Given the description of an element on the screen output the (x, y) to click on. 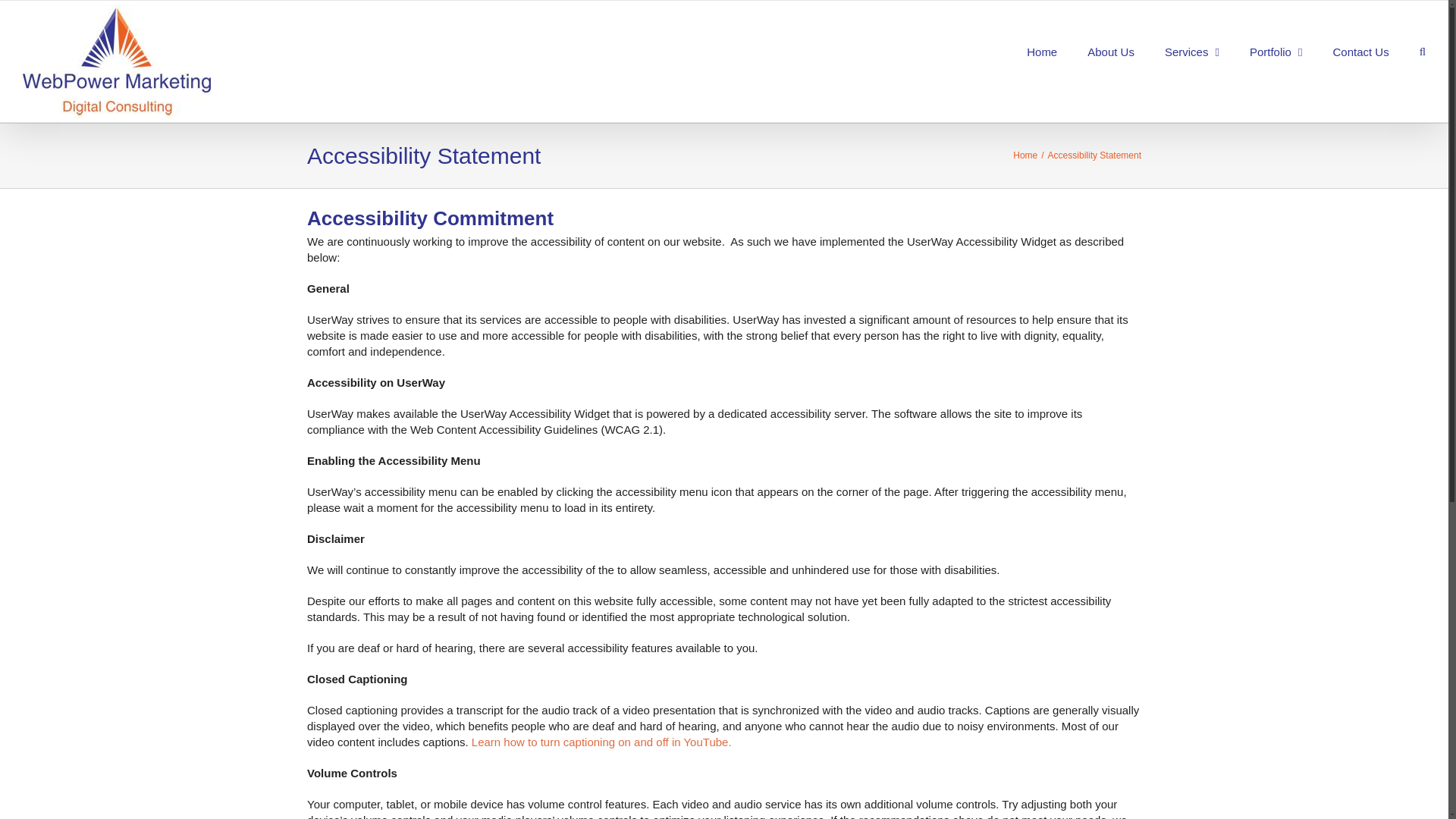
Home (1024, 154)
Learn how to turn captioning on and off in YouTube. (600, 741)
